Given the description of an element on the screen output the (x, y) to click on. 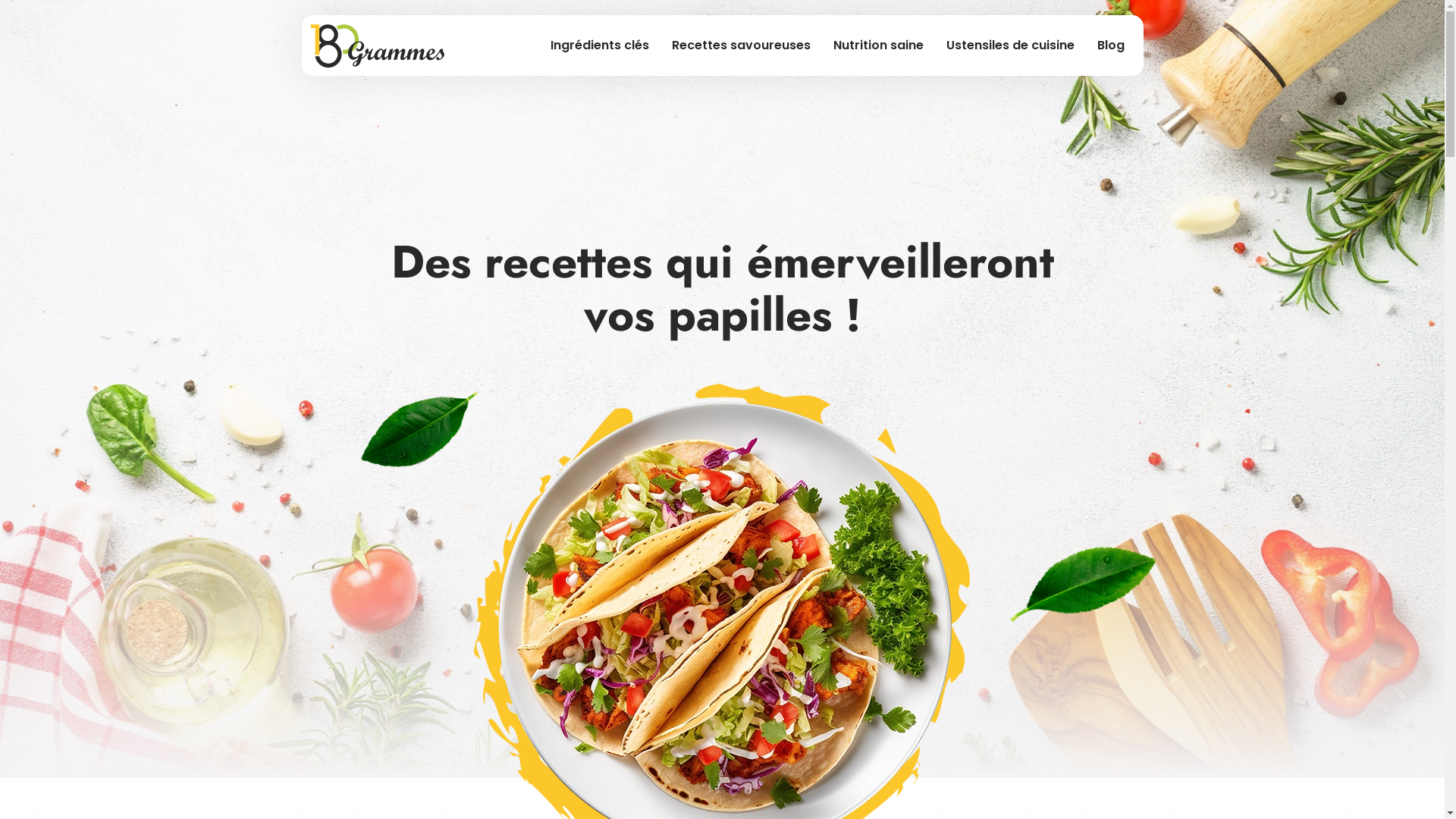
Recettes savoureuses Element type: text (740, 45)
Nutrition saine Element type: text (877, 45)
Ustensiles de cuisine Element type: text (1010, 45)
Blog Element type: text (1109, 45)
